Given the description of an element on the screen output the (x, y) to click on. 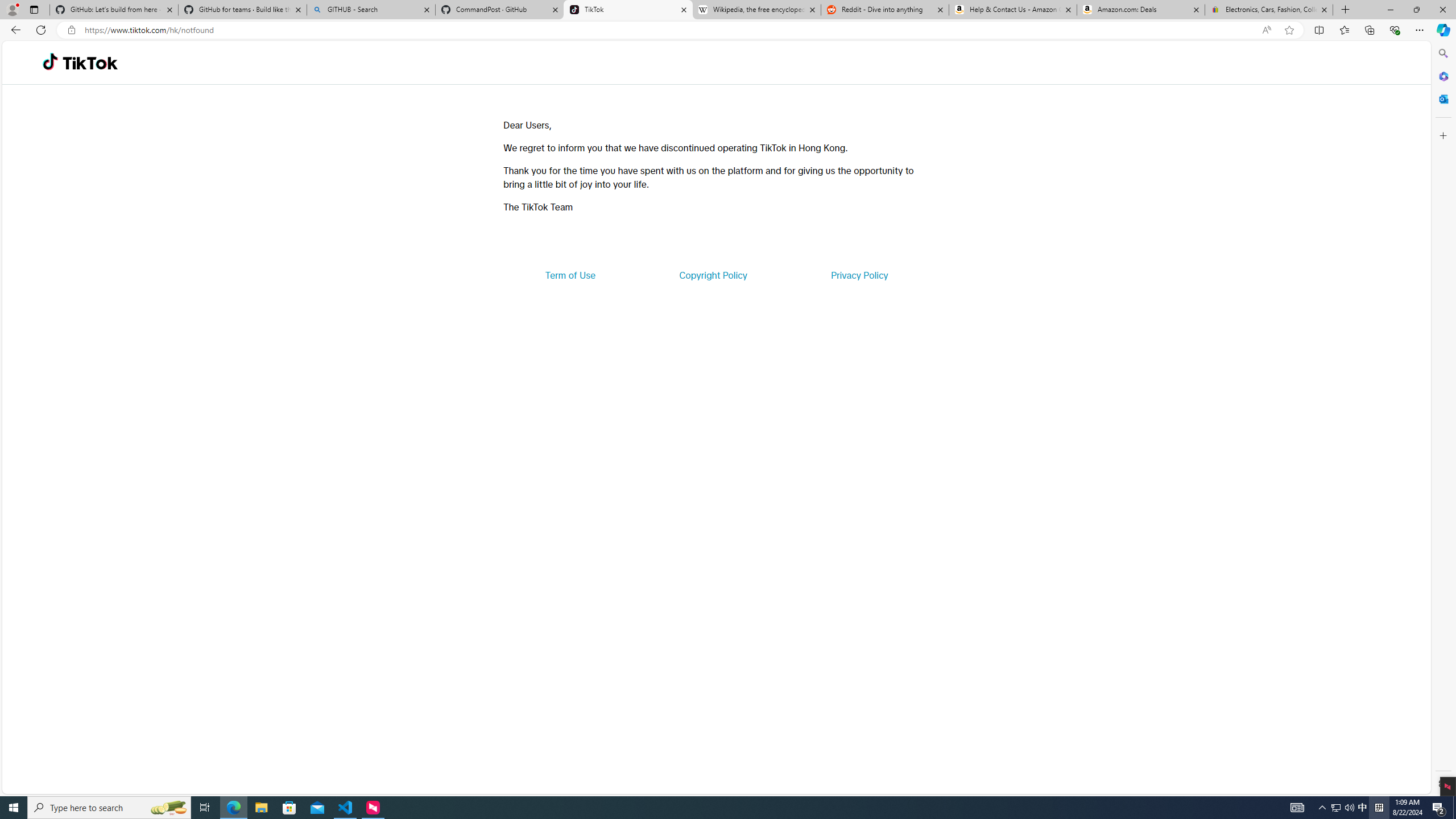
Wikipedia, the free encyclopedia (756, 9)
Privacy Policy (858, 274)
Copyright Policy (712, 274)
Term of Use (569, 274)
